Given the description of an element on the screen output the (x, y) to click on. 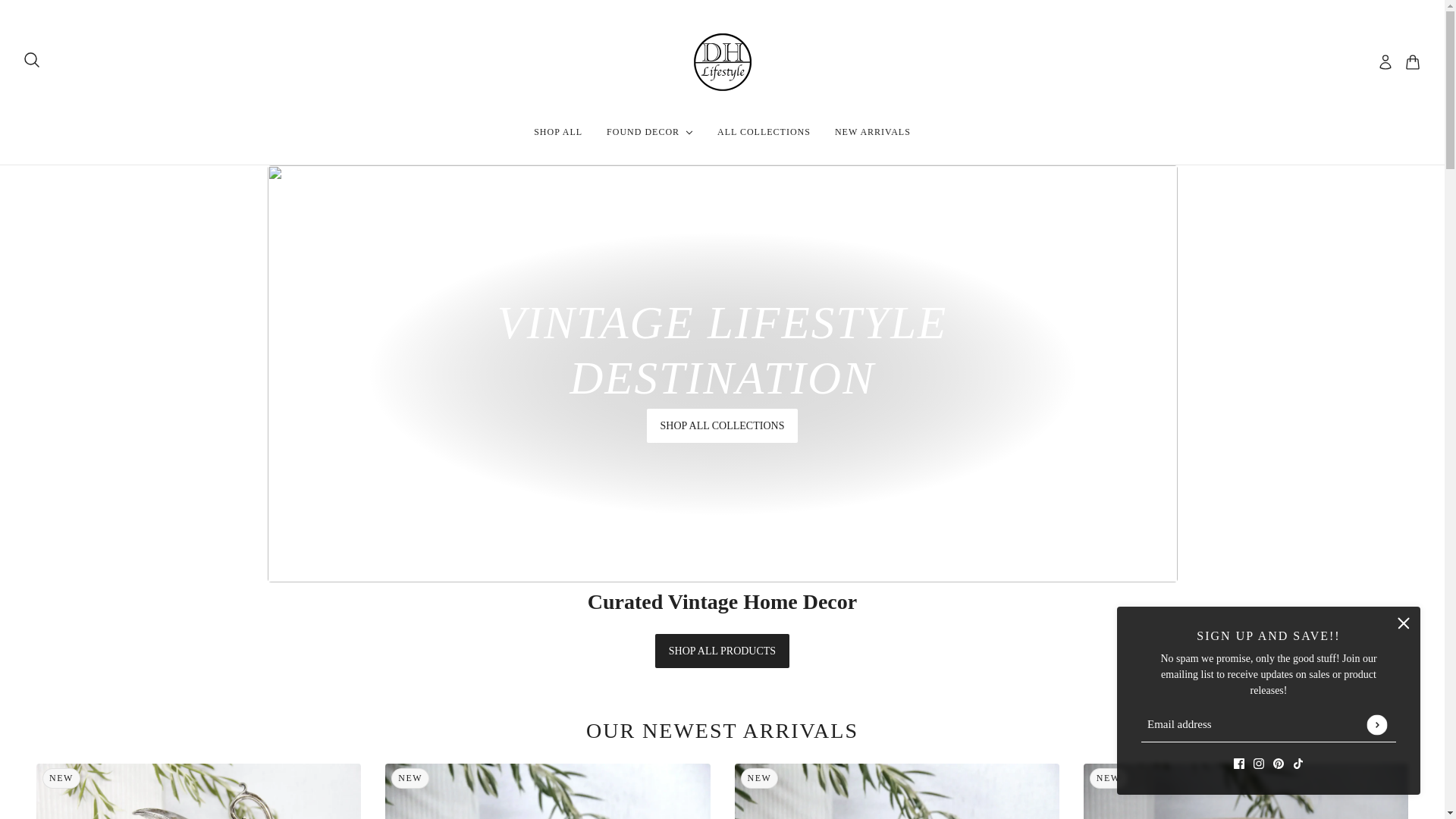
NEW ARRIVALS (872, 131)
SHOP ALL (557, 131)
FOUND DECOR (649, 131)
ALL COLLECTIONS (763, 131)
Debra Hall Lifestyle (722, 61)
